Given the description of an element on the screen output the (x, y) to click on. 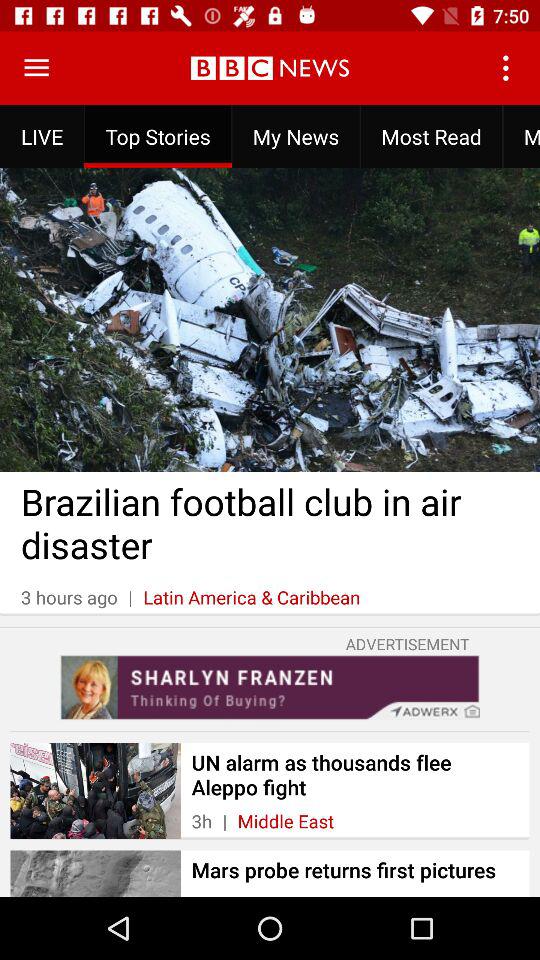
view advertisement (270, 687)
